Given the description of an element on the screen output the (x, y) to click on. 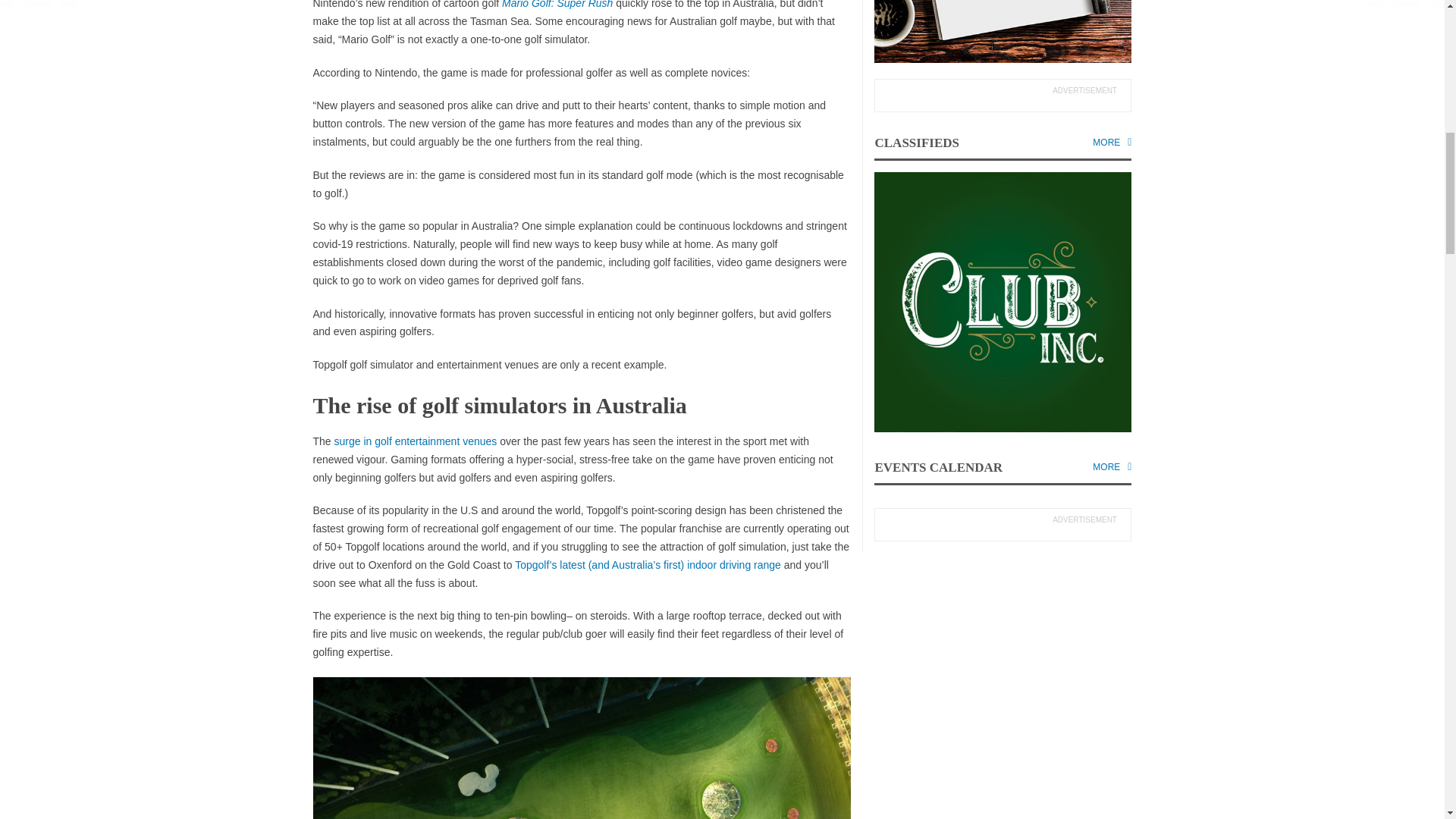
Mario Golf: Super Rush (557, 4)
surge in golf entertainment venues (415, 440)
